Given the description of an element on the screen output the (x, y) to click on. 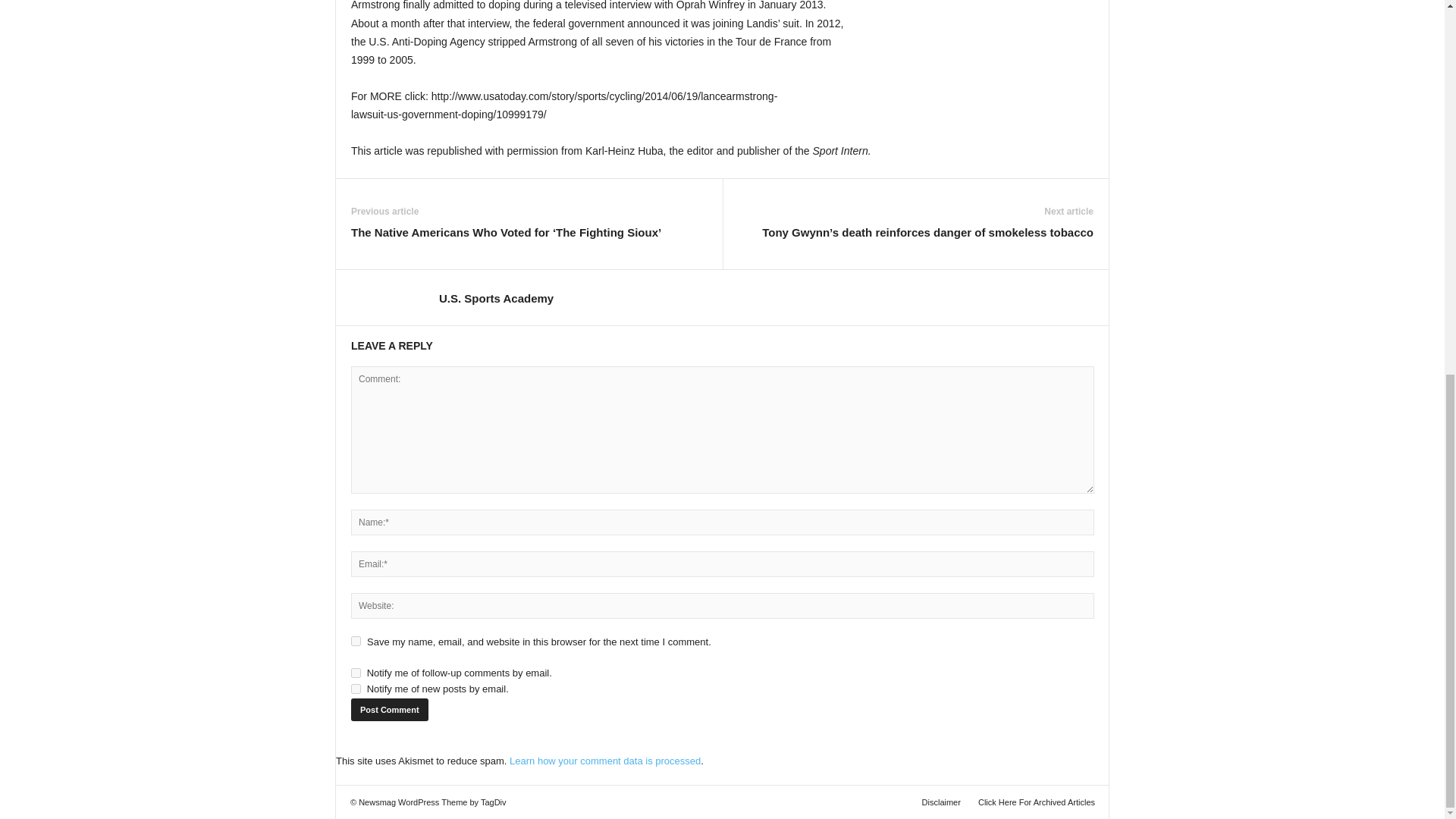
subscribe (355, 688)
subscribe (355, 673)
Post Comment (389, 709)
yes (355, 641)
